Given the description of an element on the screen output the (x, y) to click on. 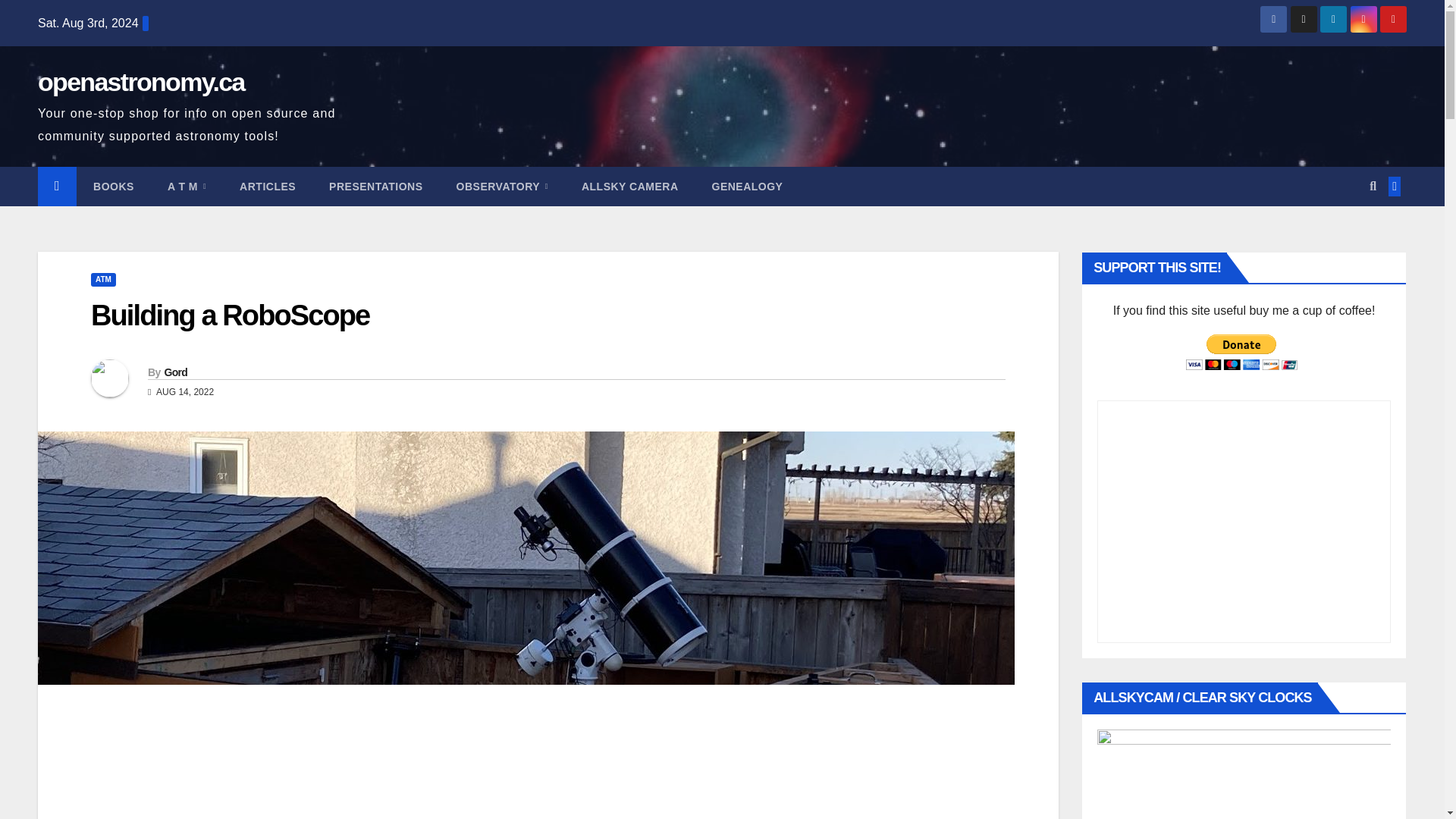
BOOKS (114, 186)
Building a RoboScope (229, 315)
Observatory (501, 186)
ARTICLES (267, 186)
Books (114, 186)
Gord (175, 372)
Articles (267, 186)
A T M (186, 186)
Presentations (376, 186)
Genealogy (746, 186)
PRESENTATIONS (376, 186)
GENEALOGY (746, 186)
A T M (186, 186)
AllSky Camera (629, 186)
Permalink to: Building a RoboScope (229, 315)
